Given the description of an element on the screen output the (x, y) to click on. 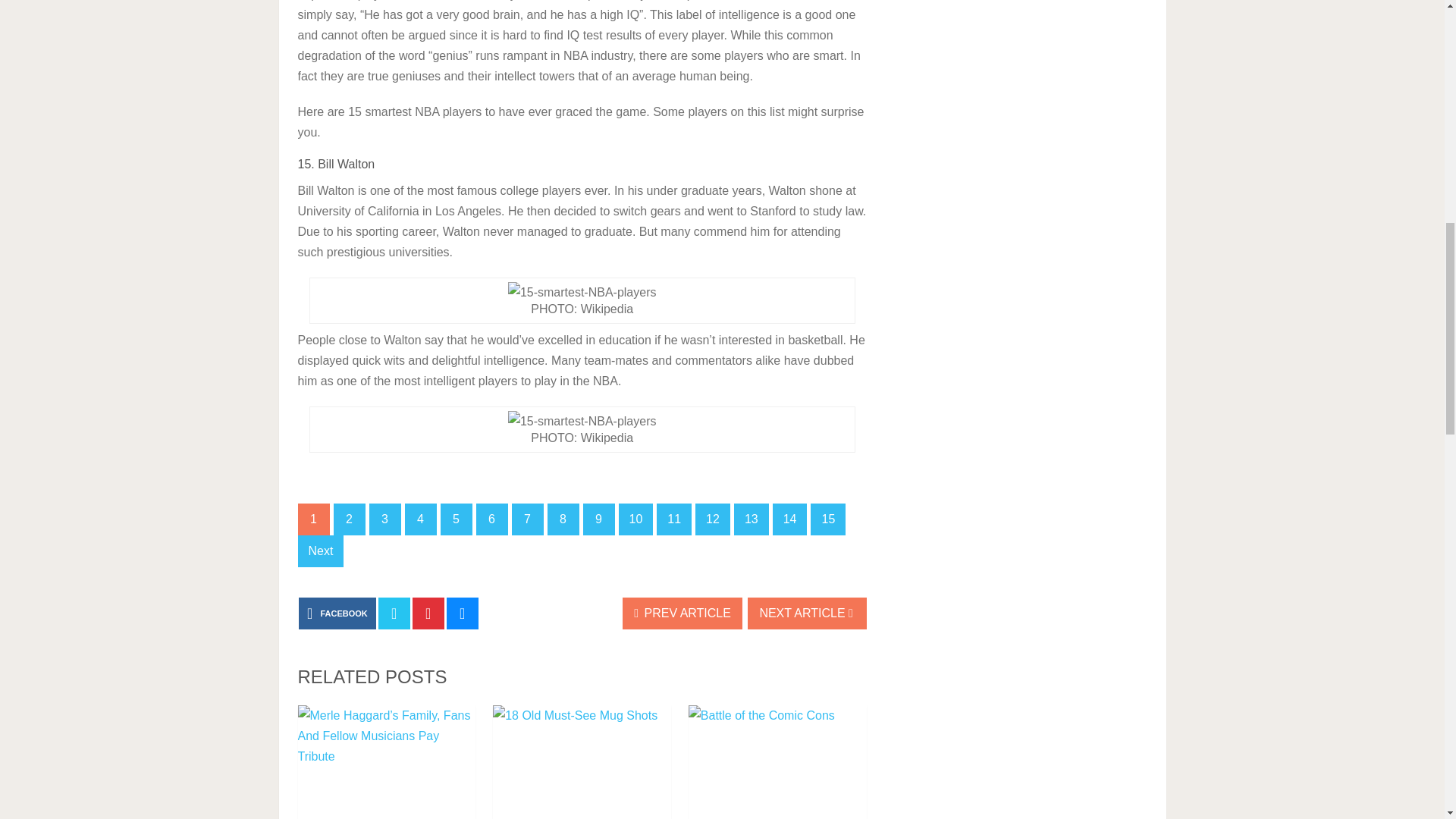
18 Old Must-See Mug Shots (582, 762)
3 (384, 519)
PREV ARTICLE (682, 613)
6 (492, 519)
11 (673, 519)
5 (455, 519)
4 (420, 519)
2 (349, 519)
14 (790, 519)
FACEBOOK (336, 613)
10 (635, 519)
Next (320, 551)
15 (827, 519)
8 (563, 519)
13 (750, 519)
